Given the description of an element on the screen output the (x, y) to click on. 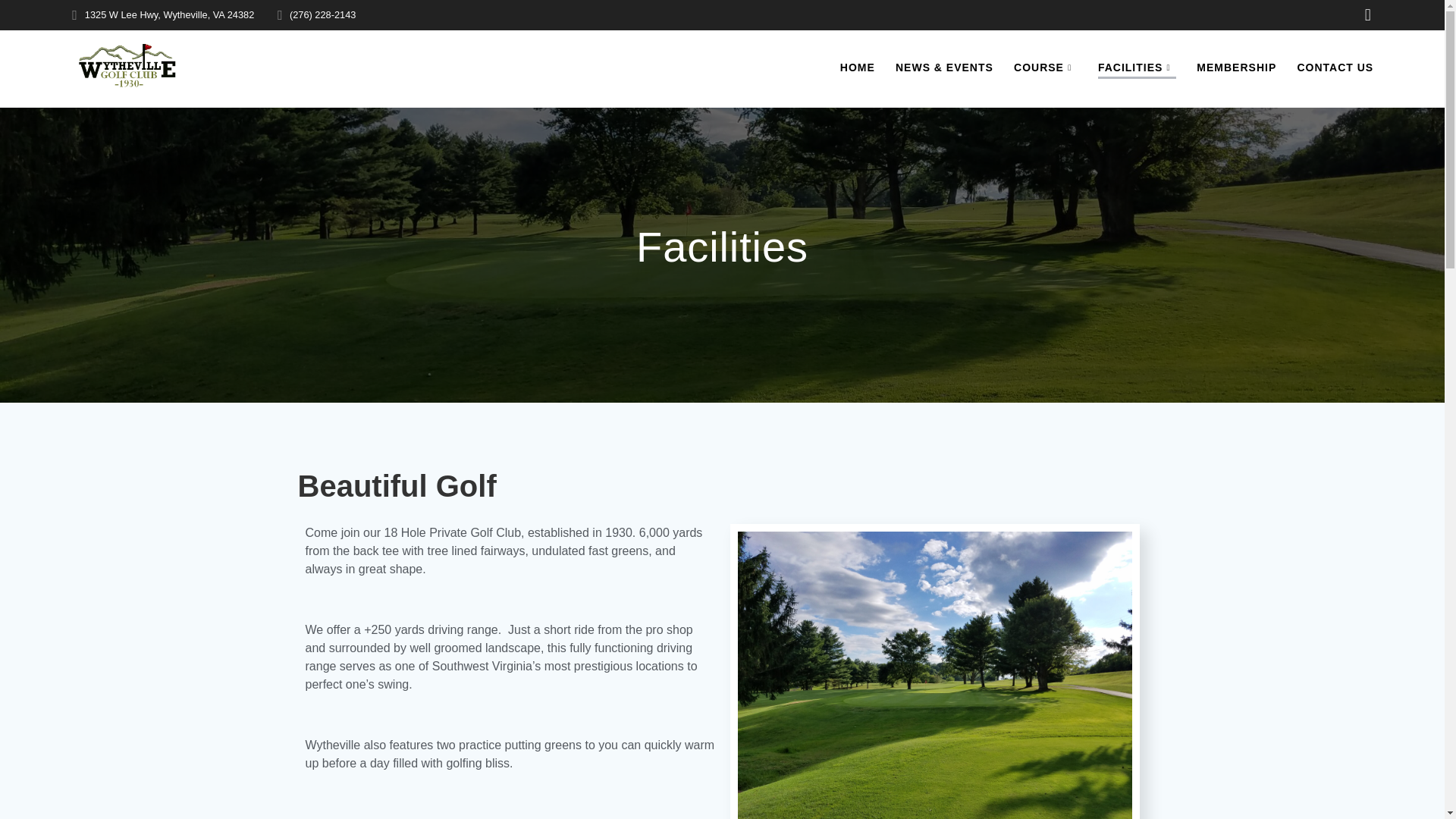
COURSE (1045, 67)
CONTACT US (1335, 67)
FACILITIES (1136, 67)
HOME (857, 67)
MEMBERSHIP (1236, 67)
